Given the description of an element on the screen output the (x, y) to click on. 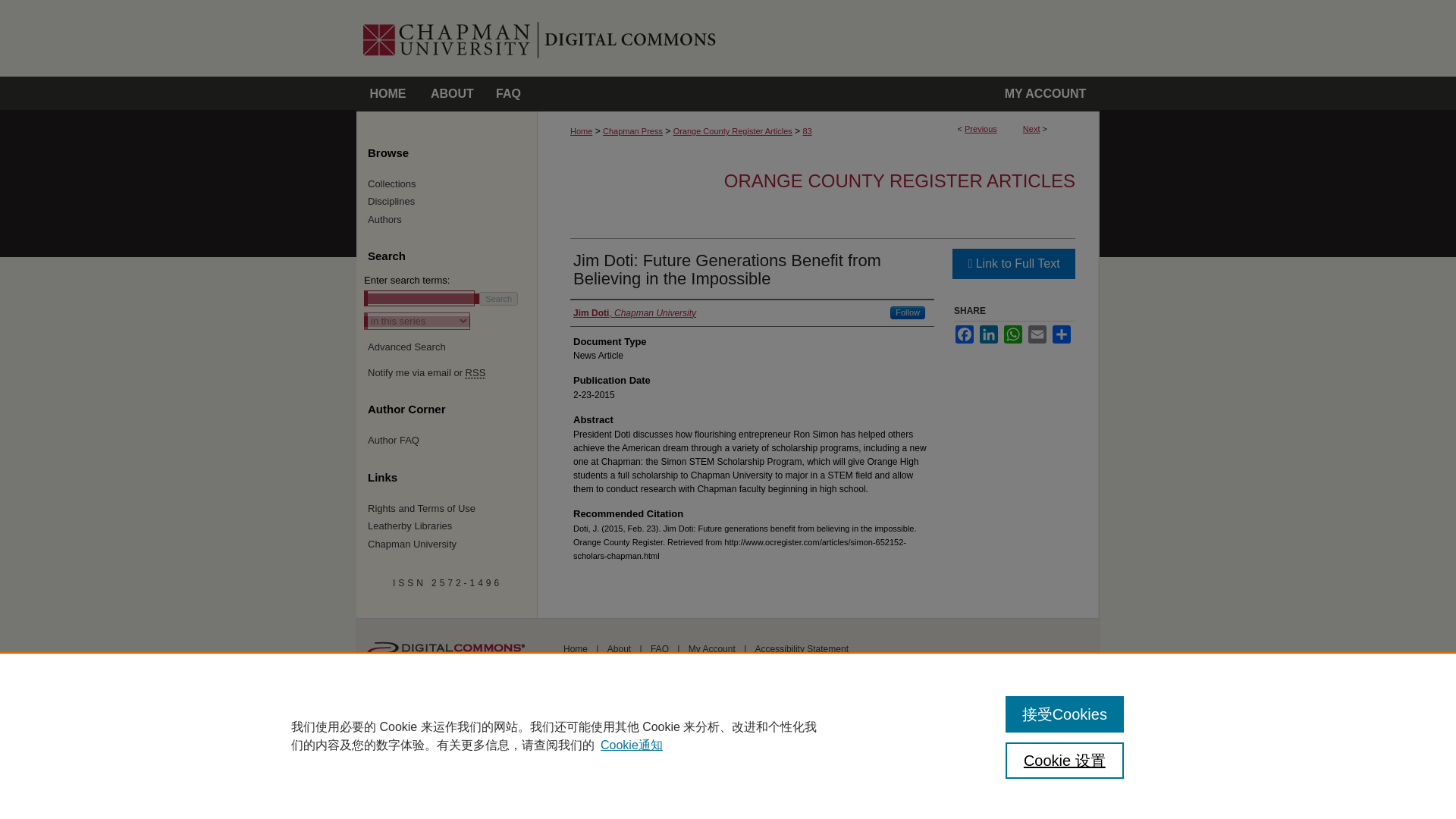
About (451, 93)
My Account (1045, 93)
Email (1037, 334)
Follow (906, 312)
83 (806, 130)
Orange County Register Articles (732, 130)
Chapman Press (632, 130)
Browse by Disciplines (453, 201)
FAQ (508, 93)
WhatsApp (1013, 334)
Chapman University (453, 544)
Search (498, 298)
Disciplines (453, 201)
Search (498, 298)
Browse by Collections (453, 183)
